Given the description of an element on the screen output the (x, y) to click on. 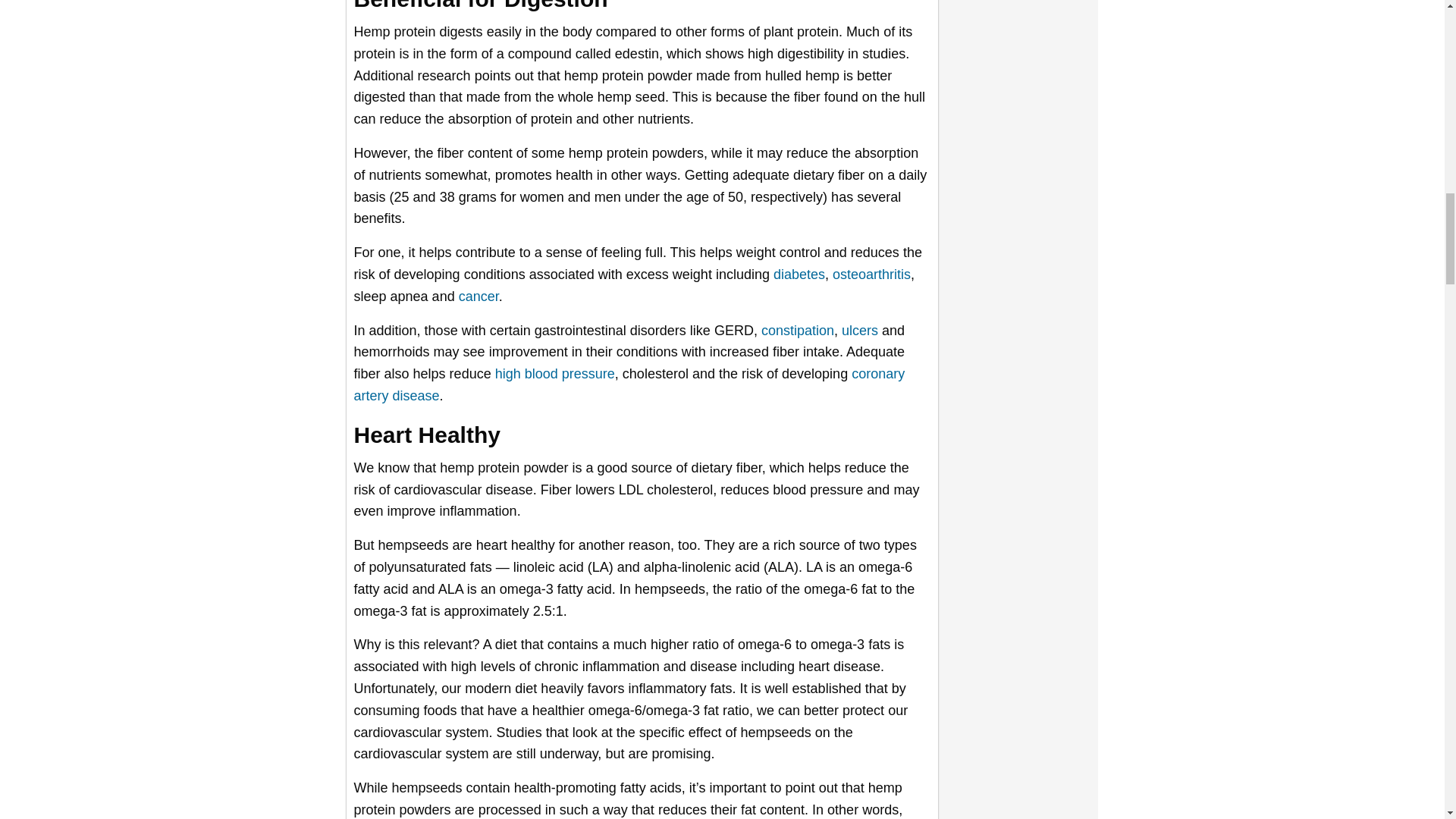
ulcers (859, 330)
diabetes (799, 273)
osteoarthritis (871, 273)
coronary artery disease (628, 384)
cancer (478, 296)
constipation (797, 330)
high blood pressure (554, 373)
